Given the description of an element on the screen output the (x, y) to click on. 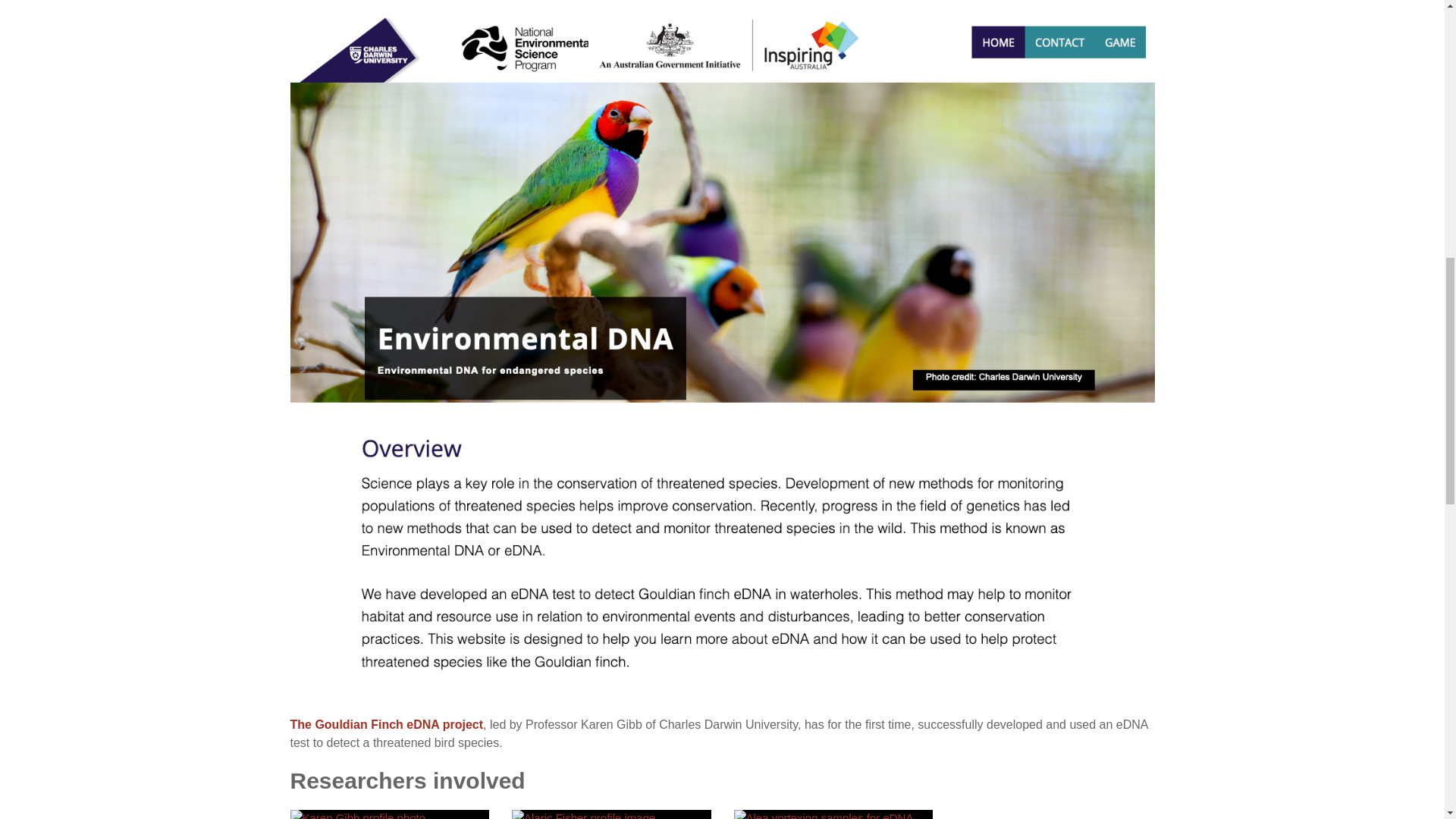
Karen Gibb (389, 814)
The Gouldian Finch eDNA project (386, 724)
Alea Rose (833, 814)
Alaric Fisher (389, 814)
